Given the description of an element on the screen output the (x, y) to click on. 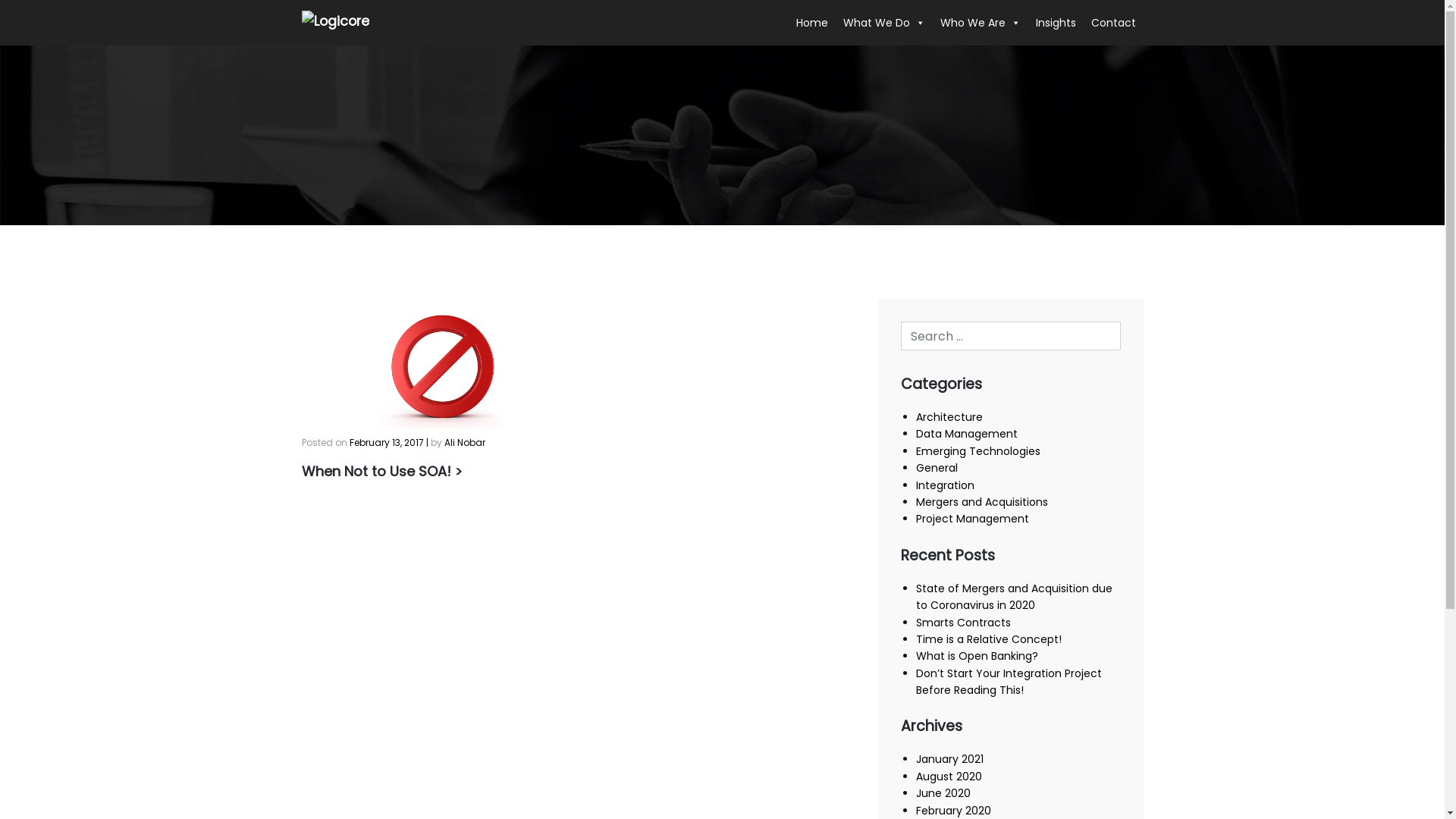
State of Mergers and Acquisition due to Coronavirus in 2020 Element type: text (1014, 596)
General Element type: text (936, 467)
Time is a Relative Concept! Element type: text (988, 638)
Search Element type: text (31, 14)
Mergers and Acquisitions Element type: text (982, 501)
Contact Element type: text (1112, 22)
February 13, 2017 Element type: text (385, 442)
Home Element type: text (811, 22)
Data Management Element type: text (966, 433)
What We Do Element type: text (883, 22)
June 2020 Element type: text (943, 792)
Project Management Element type: text (972, 518)
Smarts Contracts Element type: text (963, 622)
Search for: Element type: hover (1010, 335)
January 2021 Element type: text (949, 758)
Who We Are Element type: text (980, 22)
Architecture Element type: text (949, 416)
Emerging Technologies Element type: text (978, 450)
August 2020 Element type: text (949, 776)
Ali Nobar Element type: text (464, 442)
February 2020 Element type: text (953, 810)
Integration Element type: text (945, 484)
Posted on Element type: text (325, 442)
What is Open Banking? Element type: text (977, 655)
Insights Element type: text (1055, 22)
